Given the description of an element on the screen output the (x, y) to click on. 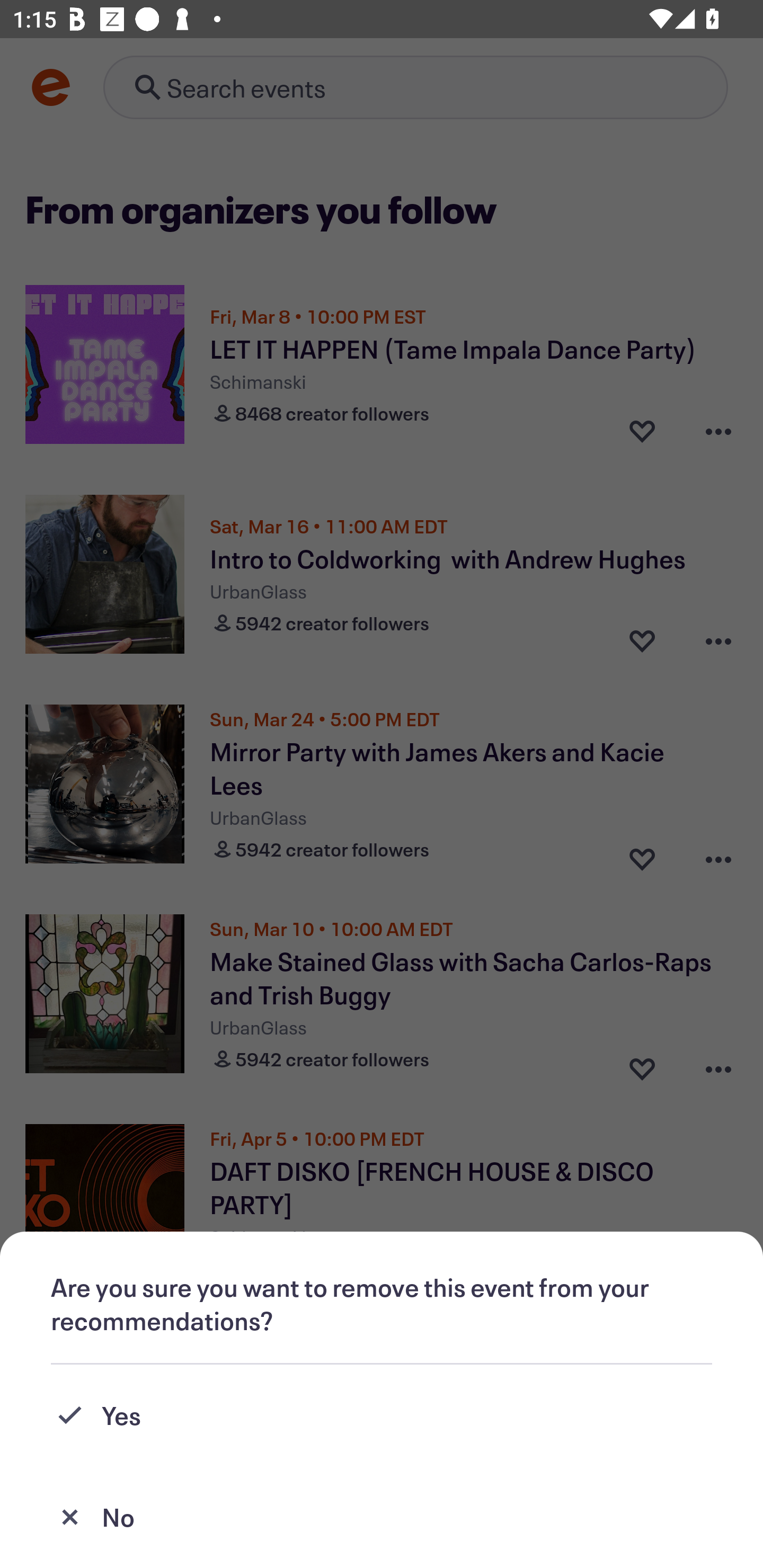
Yes (381, 1415)
No (381, 1517)
